Given the description of an element on the screen output the (x, y) to click on. 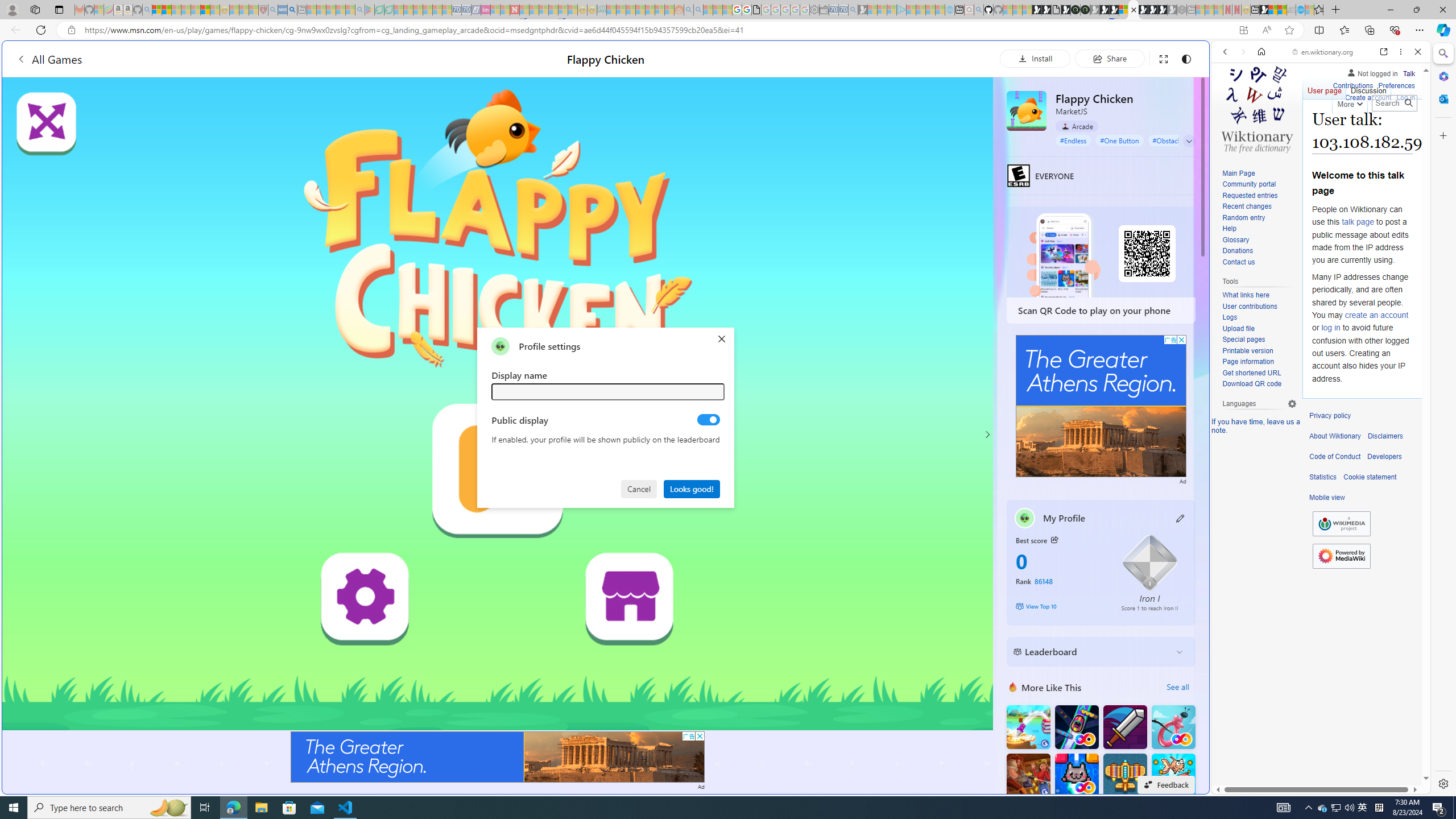
User page (1324, 87)
Web scope (1230, 102)
Saloon Robbery (1028, 775)
Cookie statement (1369, 477)
Forward (1242, 51)
Play Cave FRVR in your browser | Games from Microsoft Start (1103, 9)
Special pages (1243, 339)
#One Button (1119, 140)
Talk (1408, 73)
log in (1330, 327)
